Given the description of an element on the screen output the (x, y) to click on. 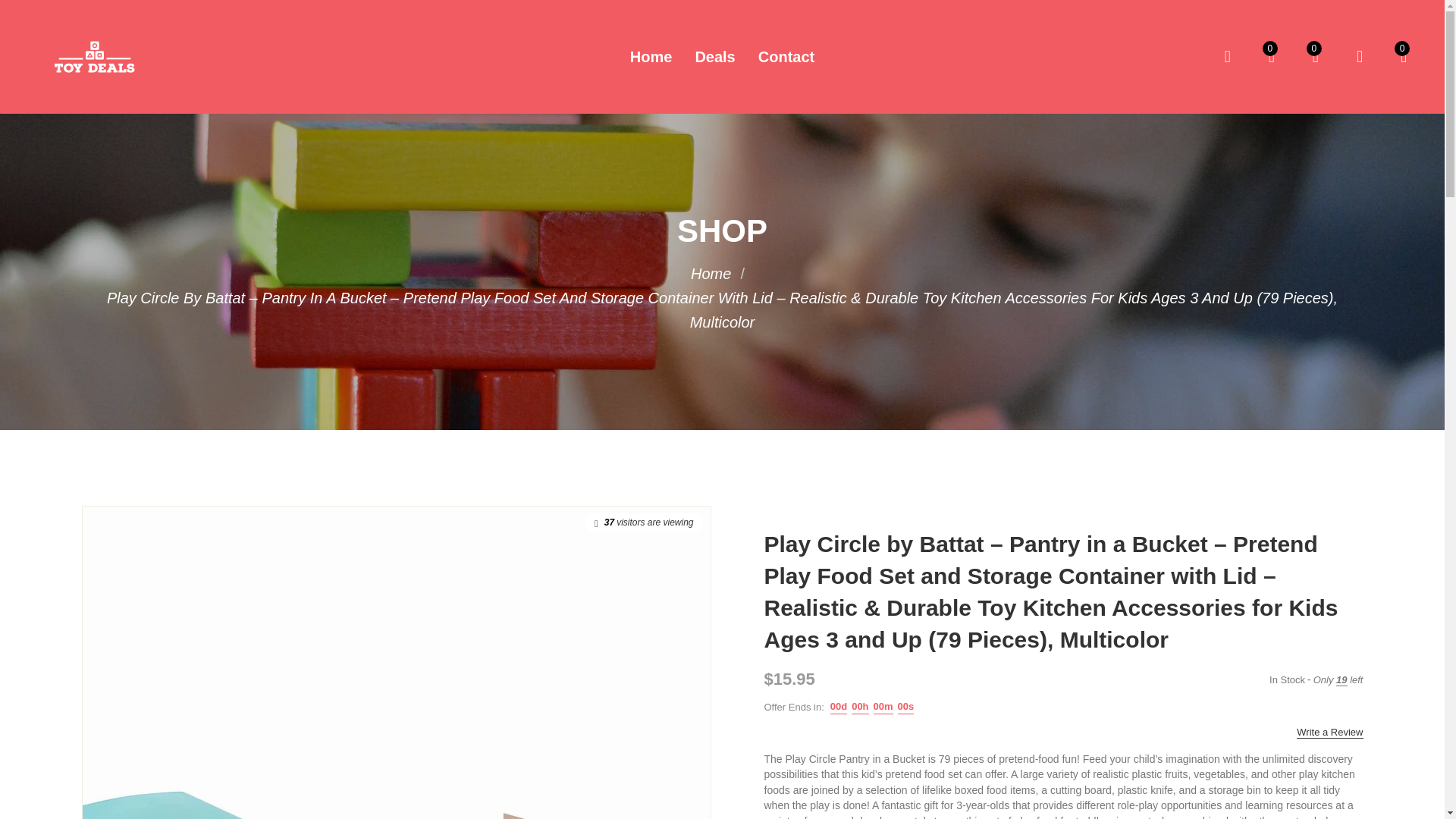
0 (1403, 56)
gontham (710, 273)
Home (651, 56)
0 (1316, 56)
Home (710, 273)
Deals (714, 56)
Write a Review (1329, 732)
0 (1271, 56)
Contact (785, 56)
